Given the description of an element on the screen output the (x, y) to click on. 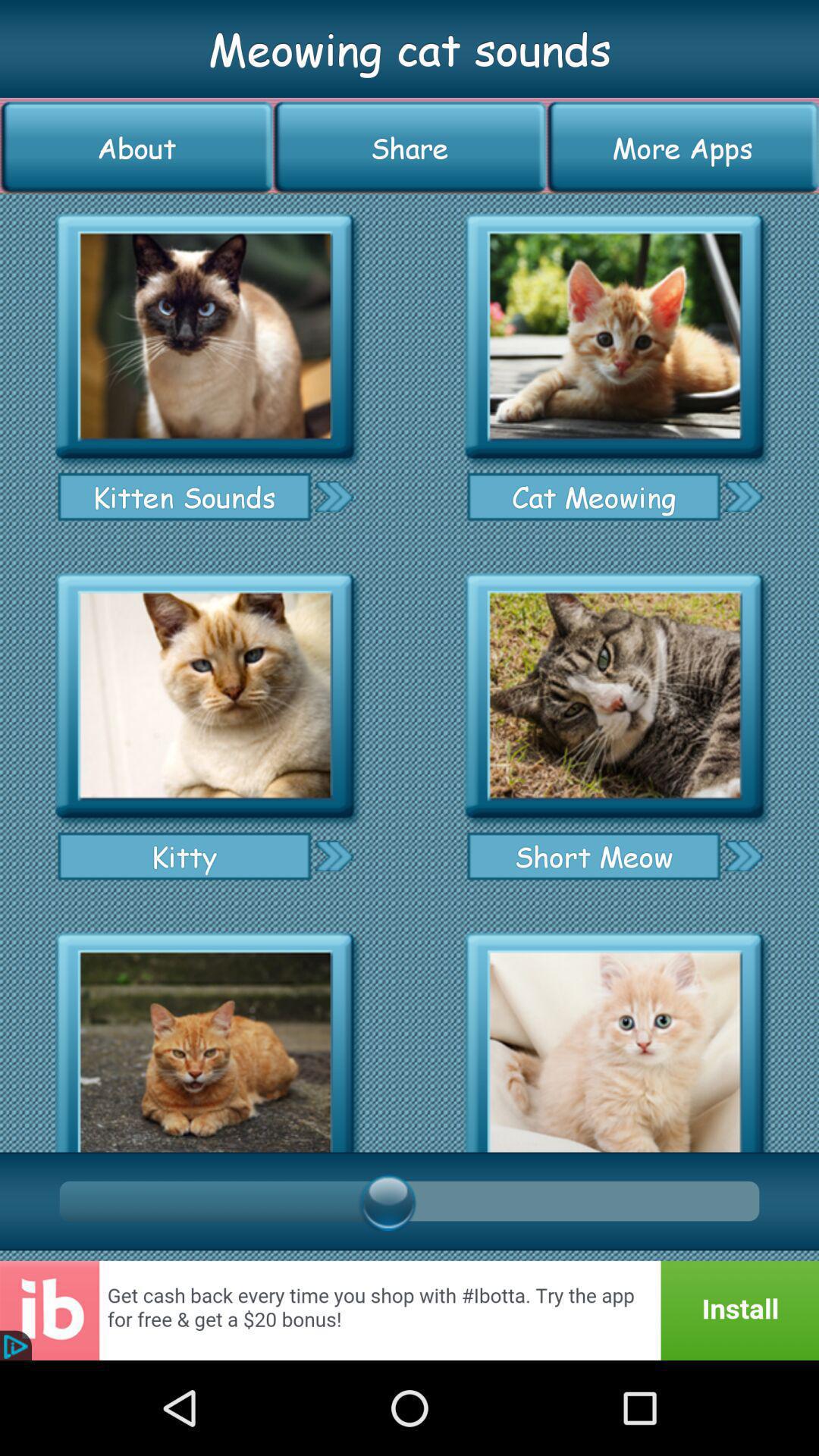
click more apps item (682, 147)
